Given the description of an element on the screen output the (x, y) to click on. 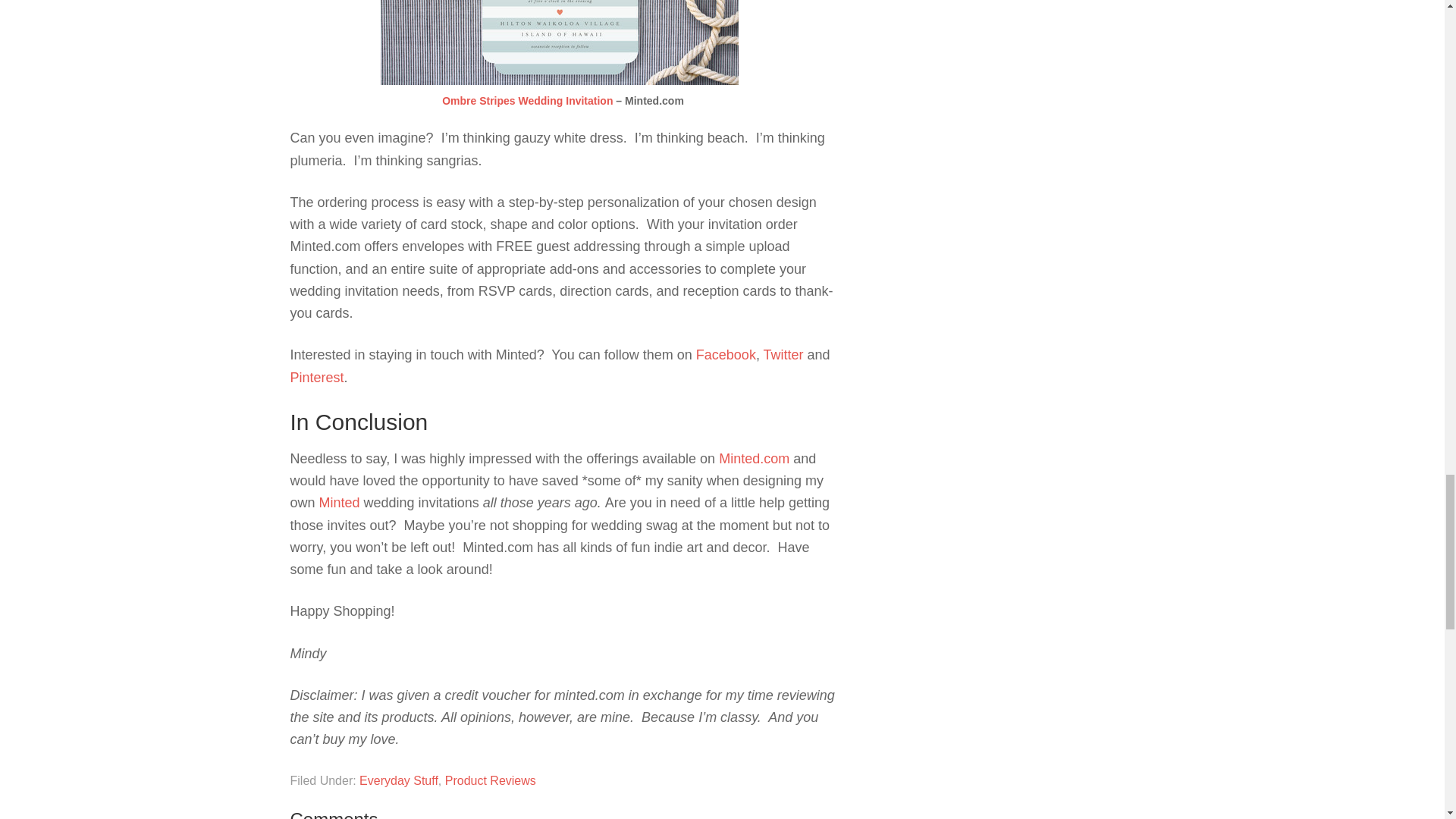
Minted.com (754, 458)
Ombre Stripes Wedding Invitation (527, 101)
Product Reviews (490, 780)
Pinterest (316, 377)
Everyday Stuff (398, 780)
Minted.com (754, 458)
Ombre Stripes Wedding Invitation Minted.com (527, 101)
Minted  (341, 502)
Minted.com (341, 502)
Facebook (725, 354)
Minted Twitter (785, 354)
Twitter  (785, 354)
Minted Facebook (725, 354)
Minted Pinterest (316, 377)
